Given the description of an element on the screen output the (x, y) to click on. 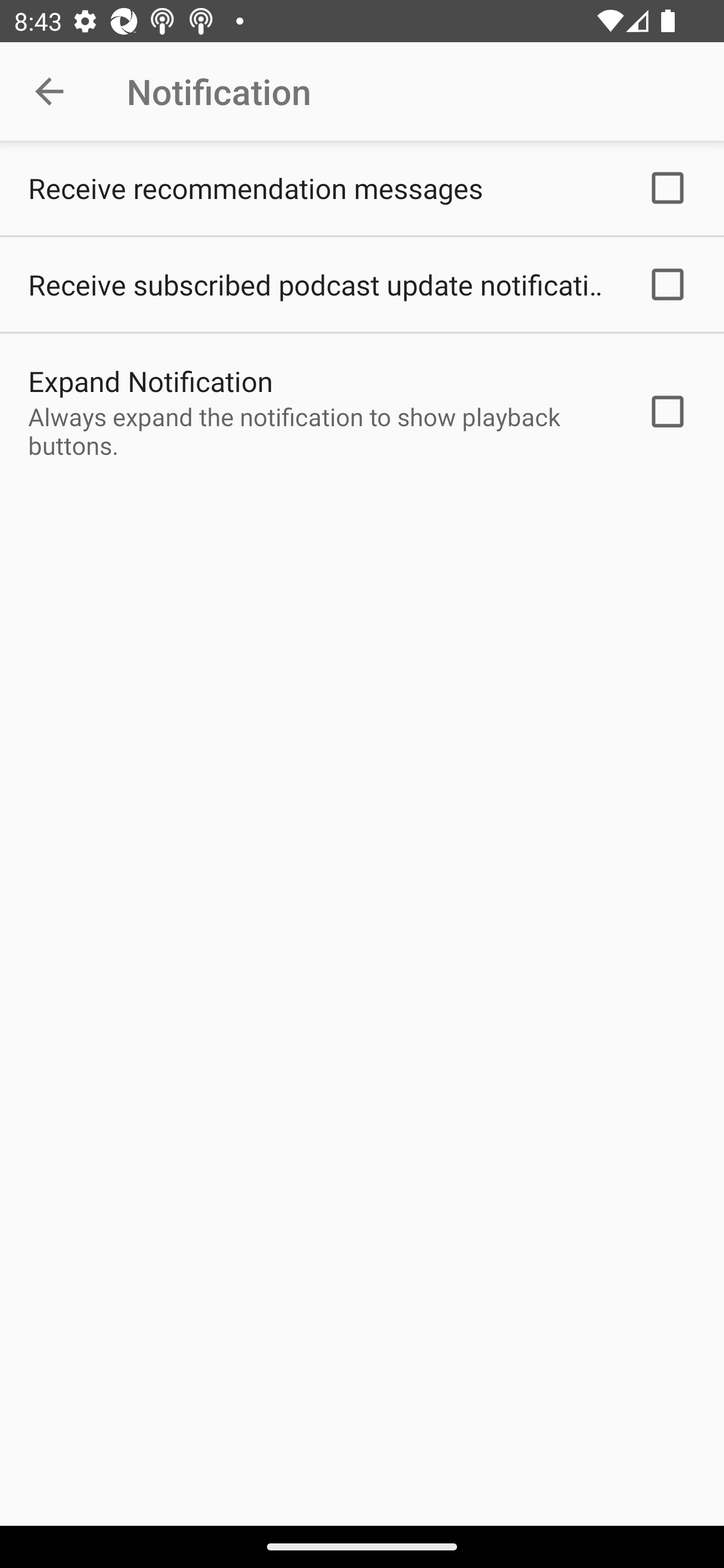
Receive recommendation messages (362, 188)
Receive subscribed podcast update notification (362, 284)
